Given the description of an element on the screen output the (x, y) to click on. 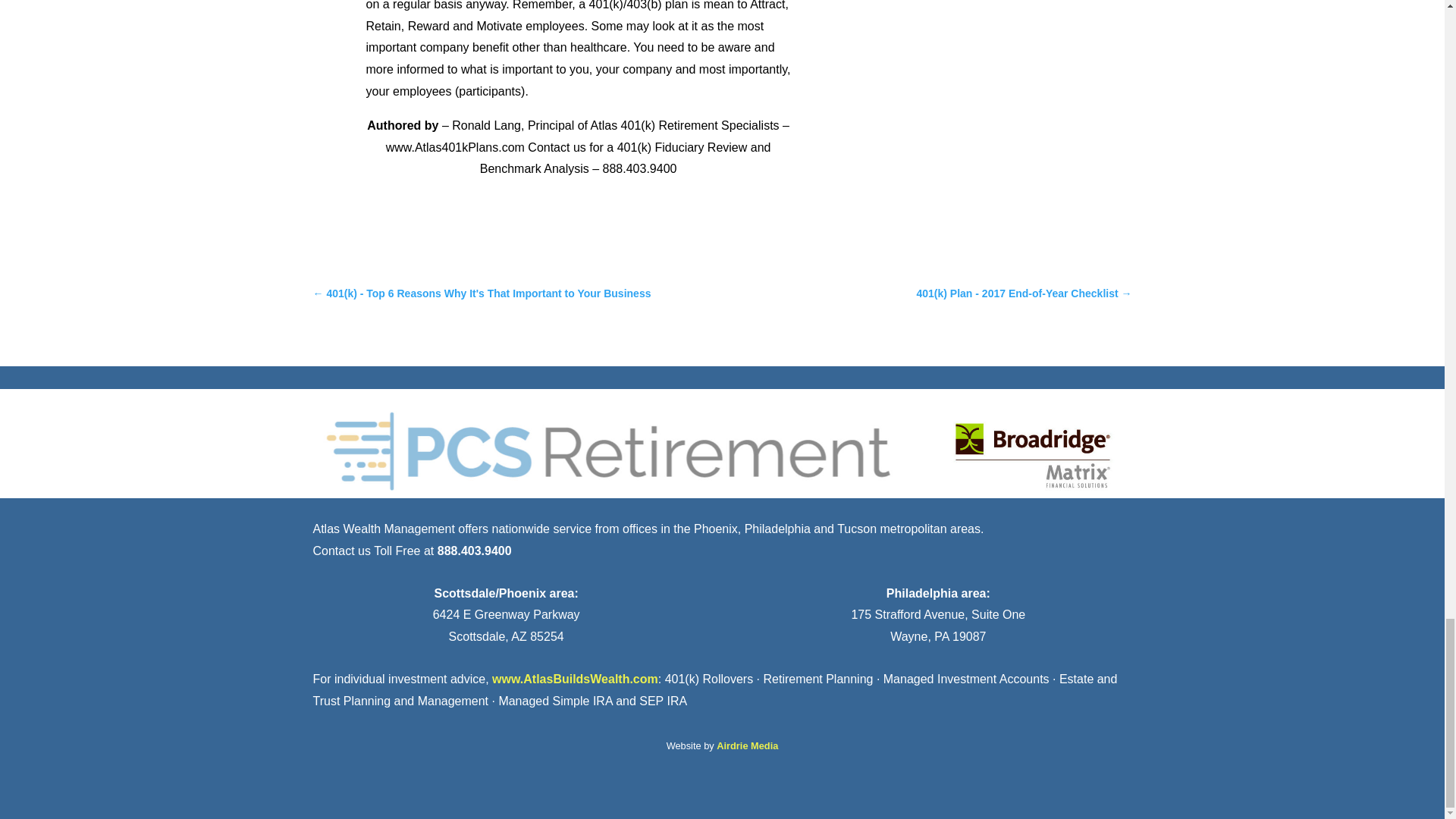
Page 1 (578, 90)
Page 1 (578, 90)
RCP Solutions Broadridge Matrix Logo (722, 450)
